Given the description of an element on the screen output the (x, y) to click on. 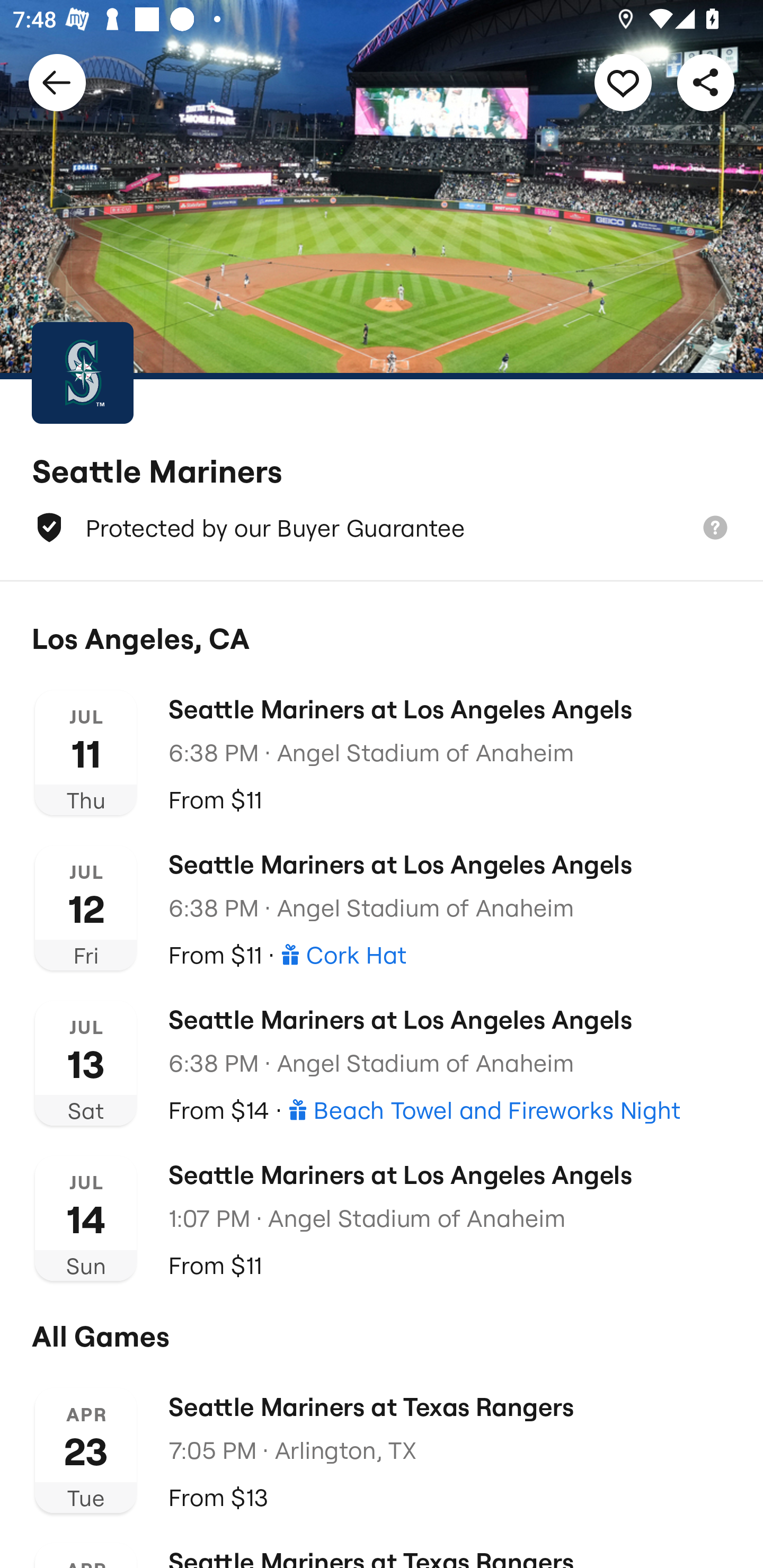
Back (57, 81)
Track this performer (623, 81)
Share this performer (705, 81)
Protected by our Buyer Guarantee Learn more (381, 527)
